Given the description of an element on the screen output the (x, y) to click on. 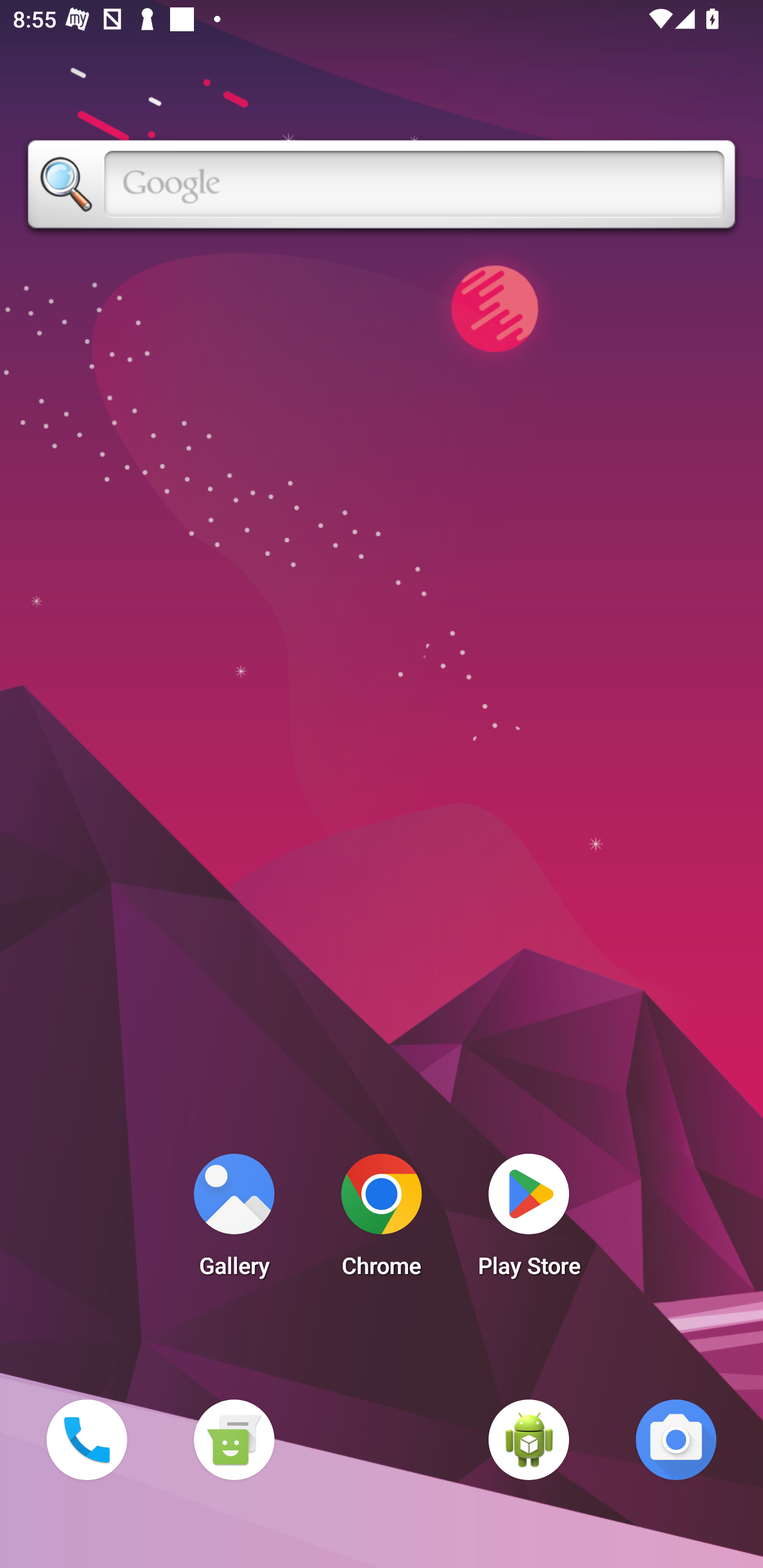
Gallery (233, 1220)
Chrome (381, 1220)
Play Store (528, 1220)
Phone (86, 1439)
Messaging (233, 1439)
WebView Browser Tester (528, 1439)
Camera (676, 1439)
